Given the description of an element on the screen output the (x, y) to click on. 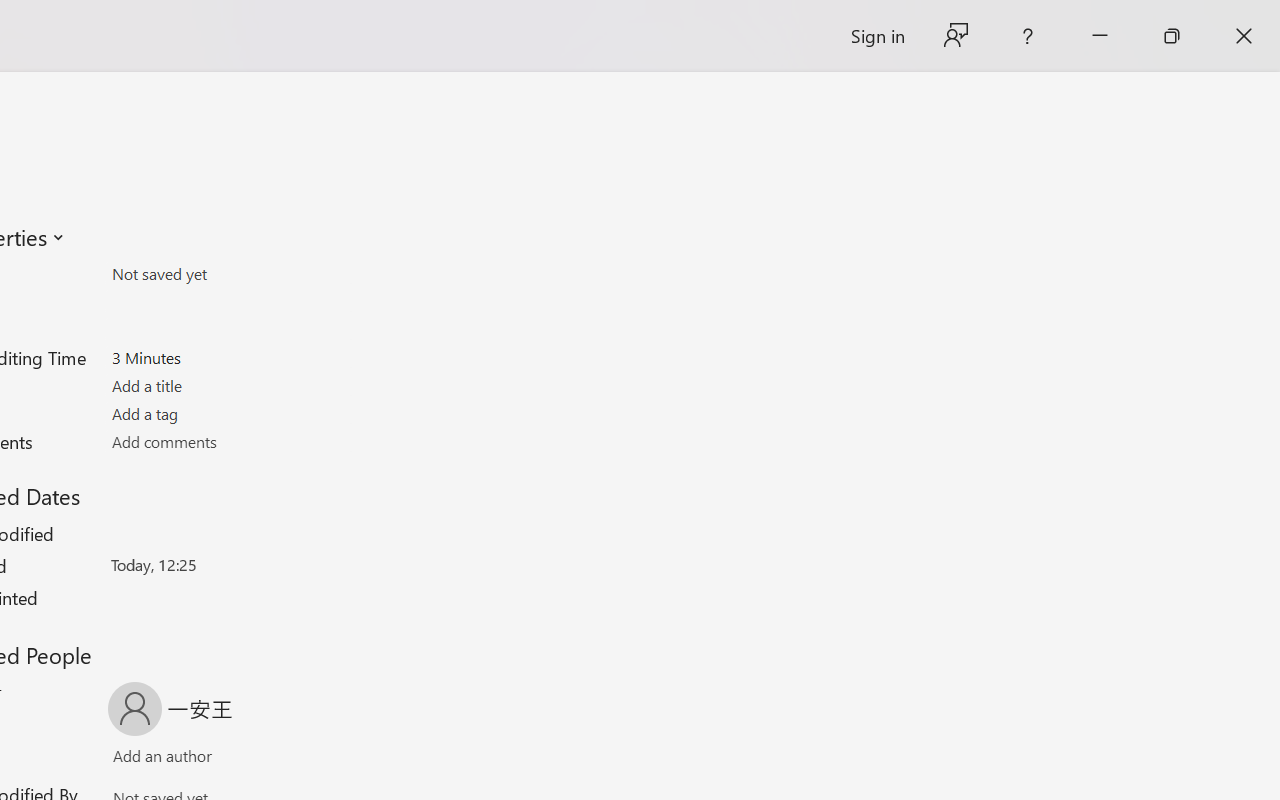
Words (228, 330)
Verify Names (197, 759)
Size (228, 274)
Tags (228, 413)
Sign in (875, 35)
Add an author (142, 759)
Title (228, 386)
Total Editing Time (228, 357)
Browse Address Book (291, 760)
Pages (228, 301)
